Given the description of an element on the screen output the (x, y) to click on. 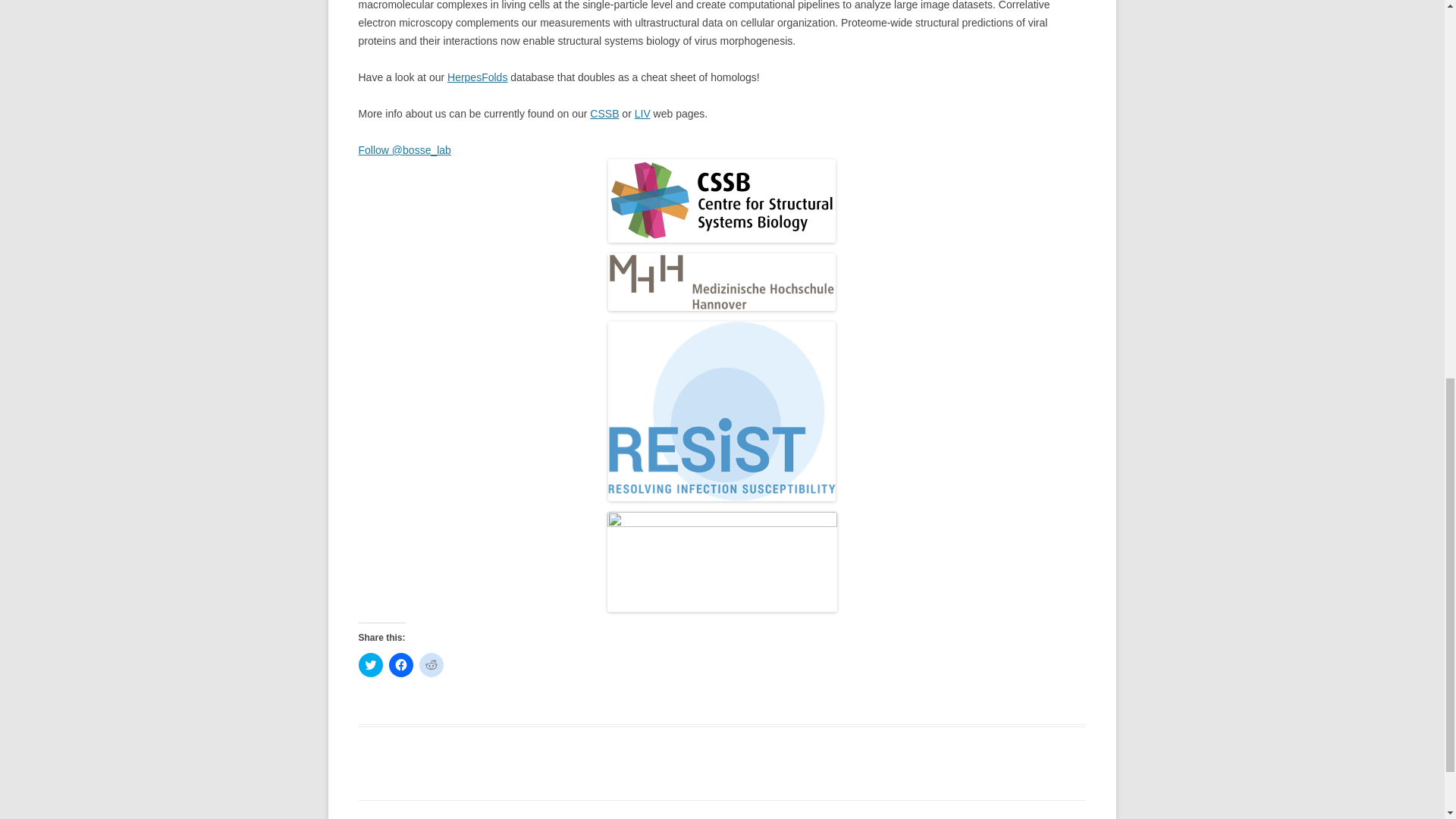
Click to share on Facebook (400, 664)
CSSB (603, 113)
Click to share on Twitter (369, 664)
LIV (642, 113)
HerpesFolds (476, 77)
Click to share on Reddit (430, 664)
